Given the description of an element on the screen output the (x, y) to click on. 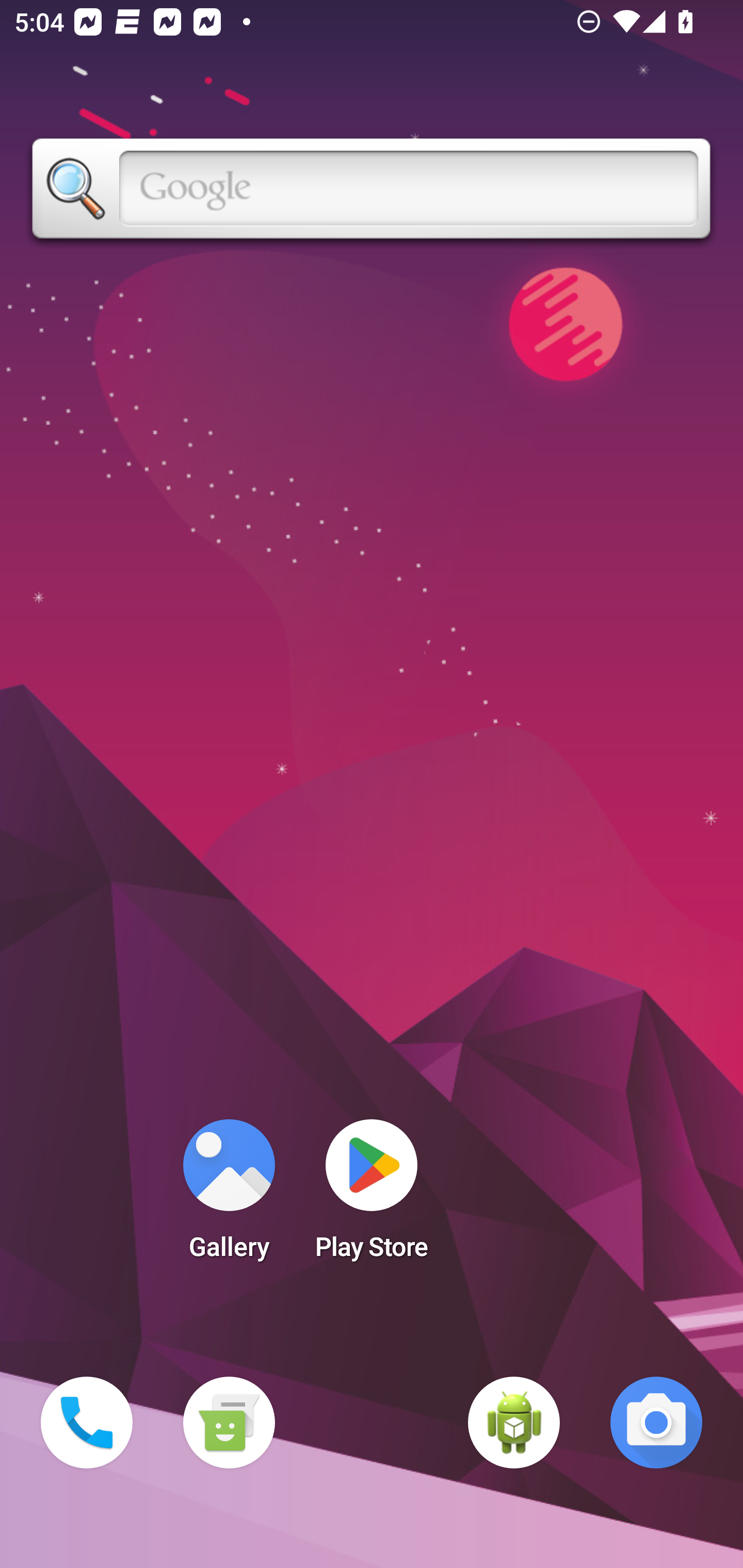
Gallery (228, 1195)
Play Store (371, 1195)
Phone (86, 1422)
Messaging (228, 1422)
WebView Browser Tester (513, 1422)
Camera (656, 1422)
